Given the description of an element on the screen output the (x, y) to click on. 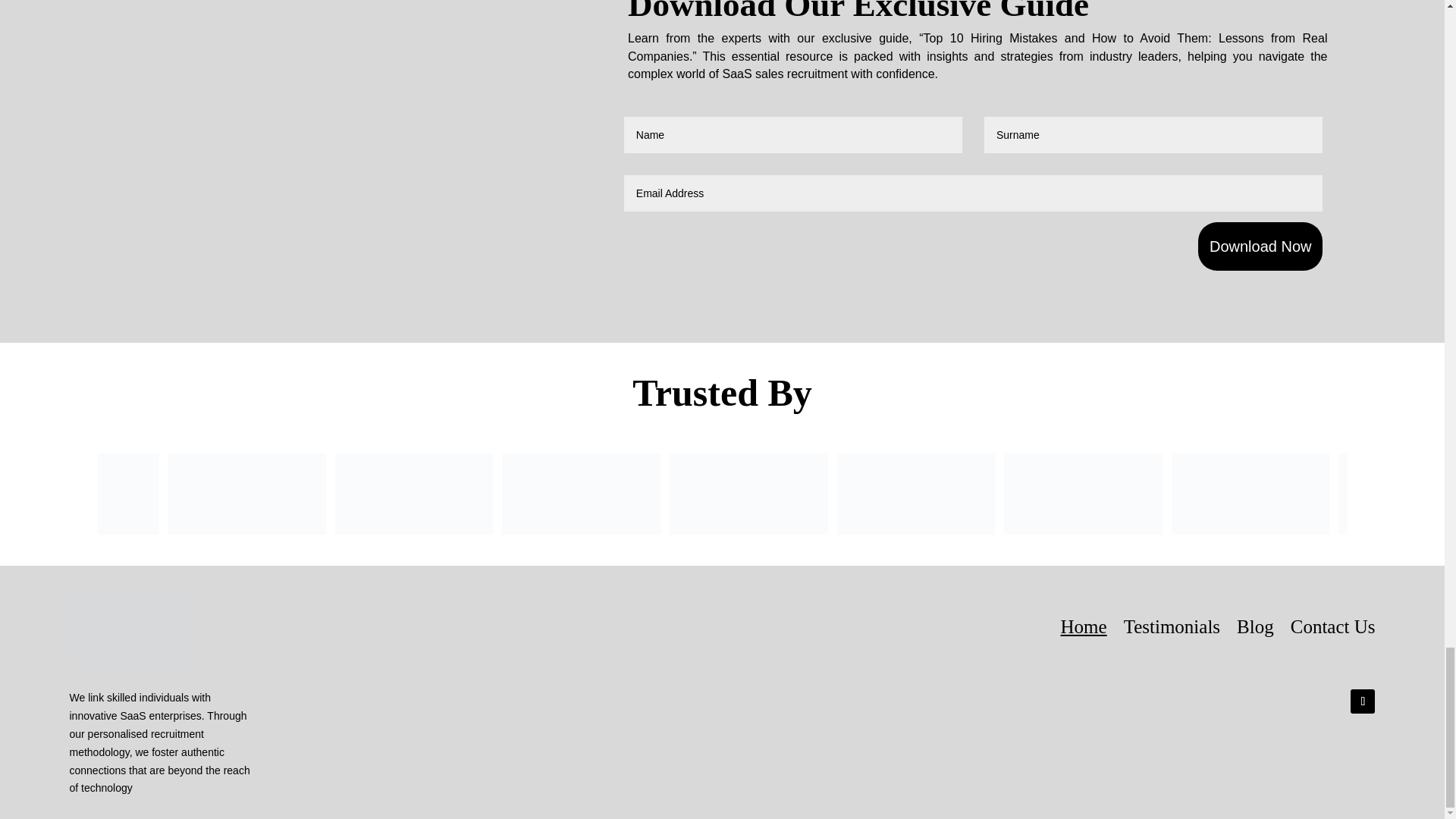
Follow on LinkedIn (1362, 701)
Contact Us (1332, 626)
Testimonials (1172, 626)
Download Now (1260, 246)
